Given the description of an element on the screen output the (x, y) to click on. 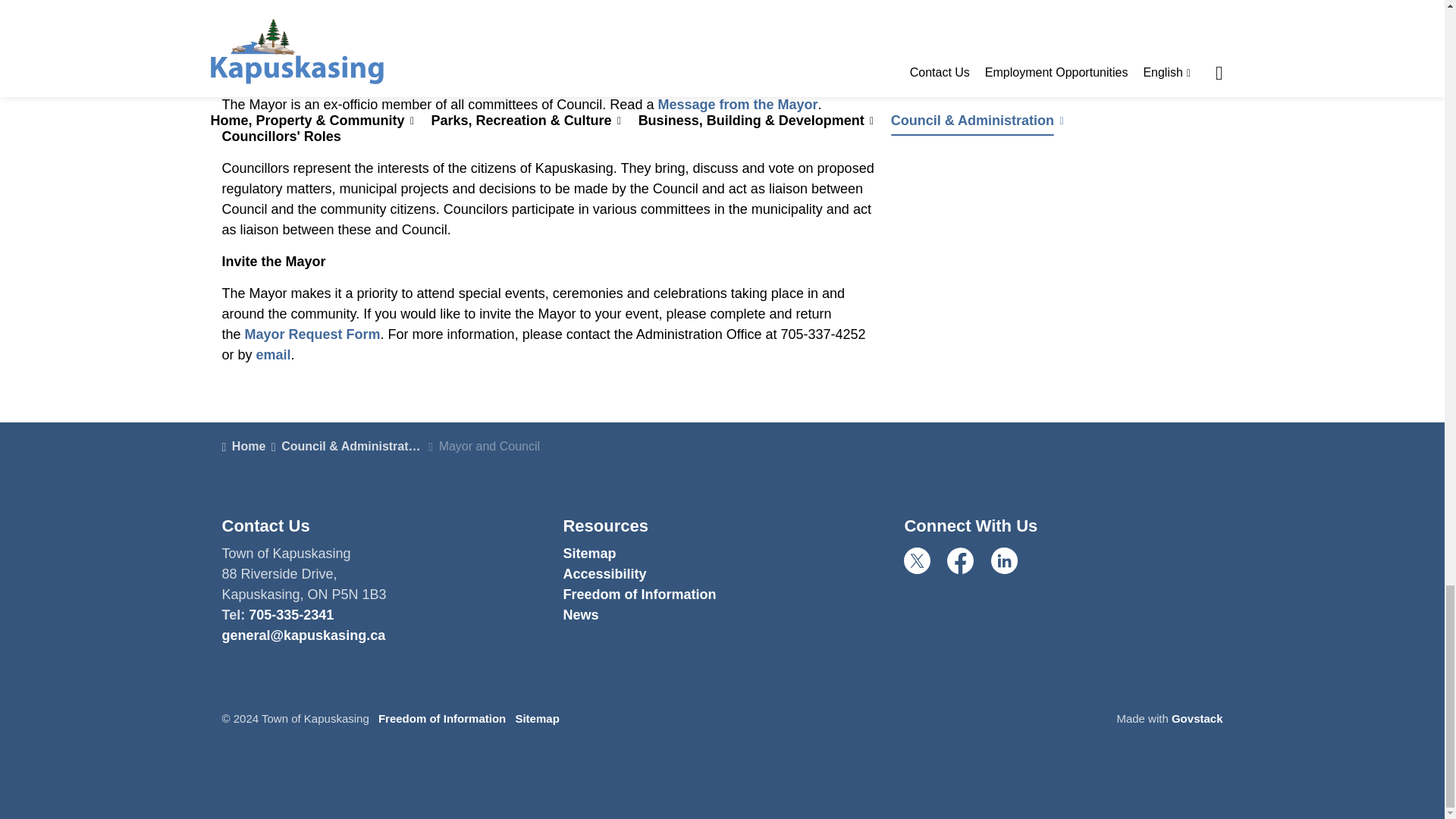
Freedom of Information (639, 594)
News (580, 614)
Accessibility (604, 573)
Sitemap (588, 553)
Message from the Mayor (737, 104)
